Given the description of an element on the screen output the (x, y) to click on. 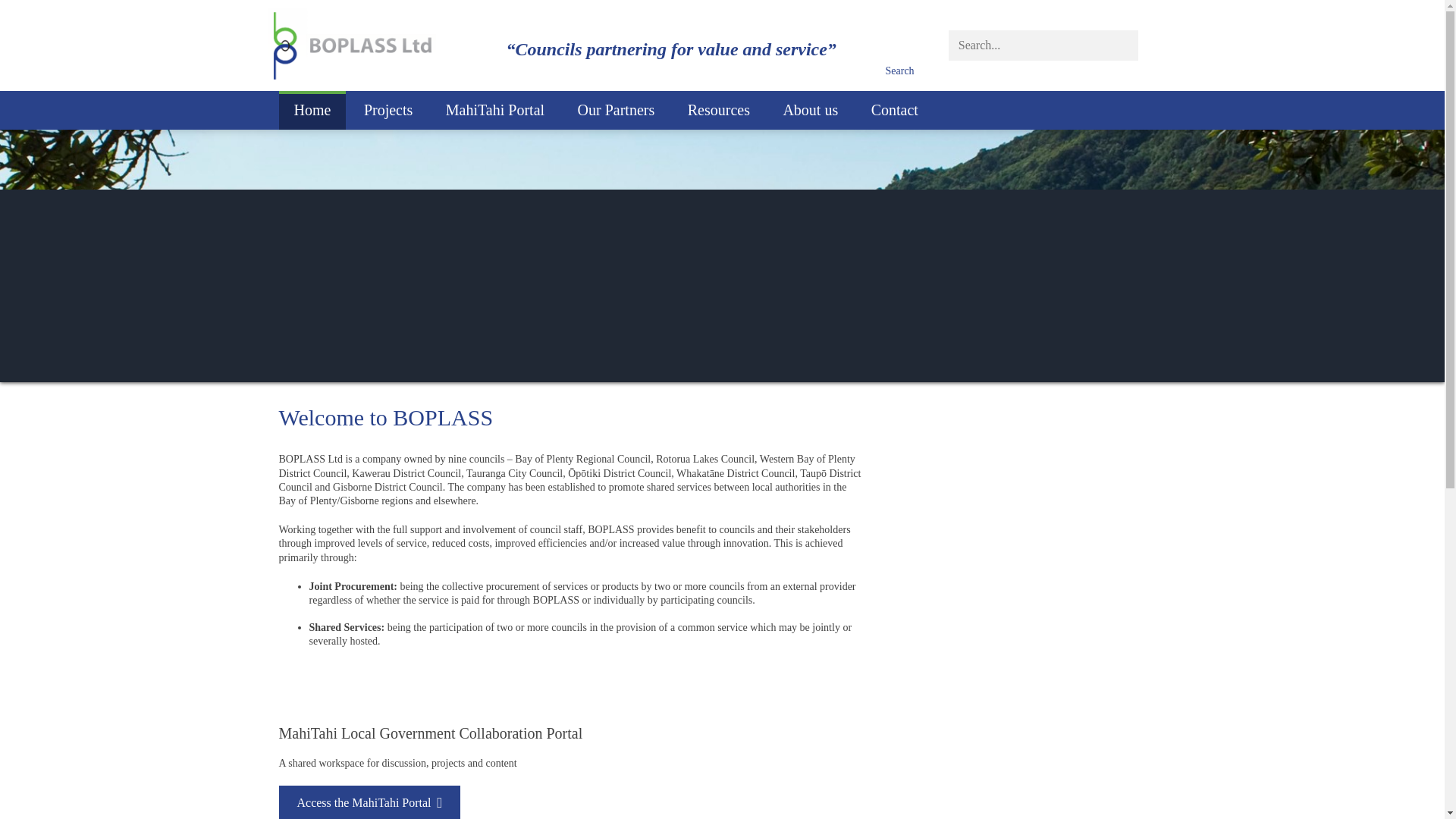
Our Partners (615, 109)
Contact (894, 109)
Access the MahiTahi Portal (370, 802)
BOPLASS Ltd (350, 45)
About us (810, 109)
Resources (718, 109)
Projects (388, 109)
Clear search text (1123, 41)
Search (899, 70)
MahiTahi Portal (494, 109)
